Given the description of an element on the screen output the (x, y) to click on. 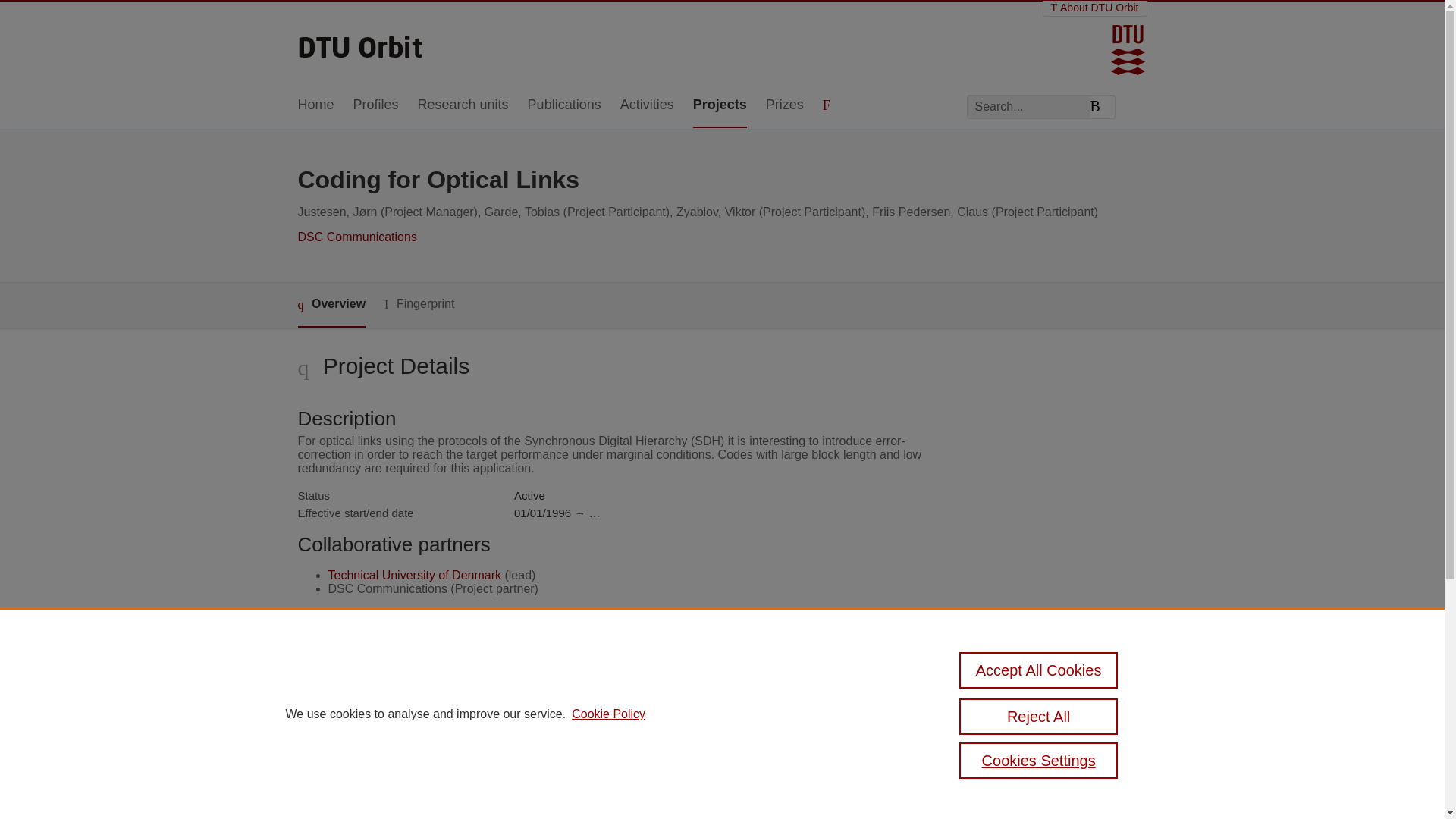
About DTU Orbit (1095, 7)
Publications (564, 105)
DSC Communications (356, 236)
Technical University of Denmark (413, 574)
Fingerprint (419, 303)
Overview (331, 304)
Research units (462, 105)
Profiles (375, 105)
Activities (647, 105)
